Given the description of an element on the screen output the (x, y) to click on. 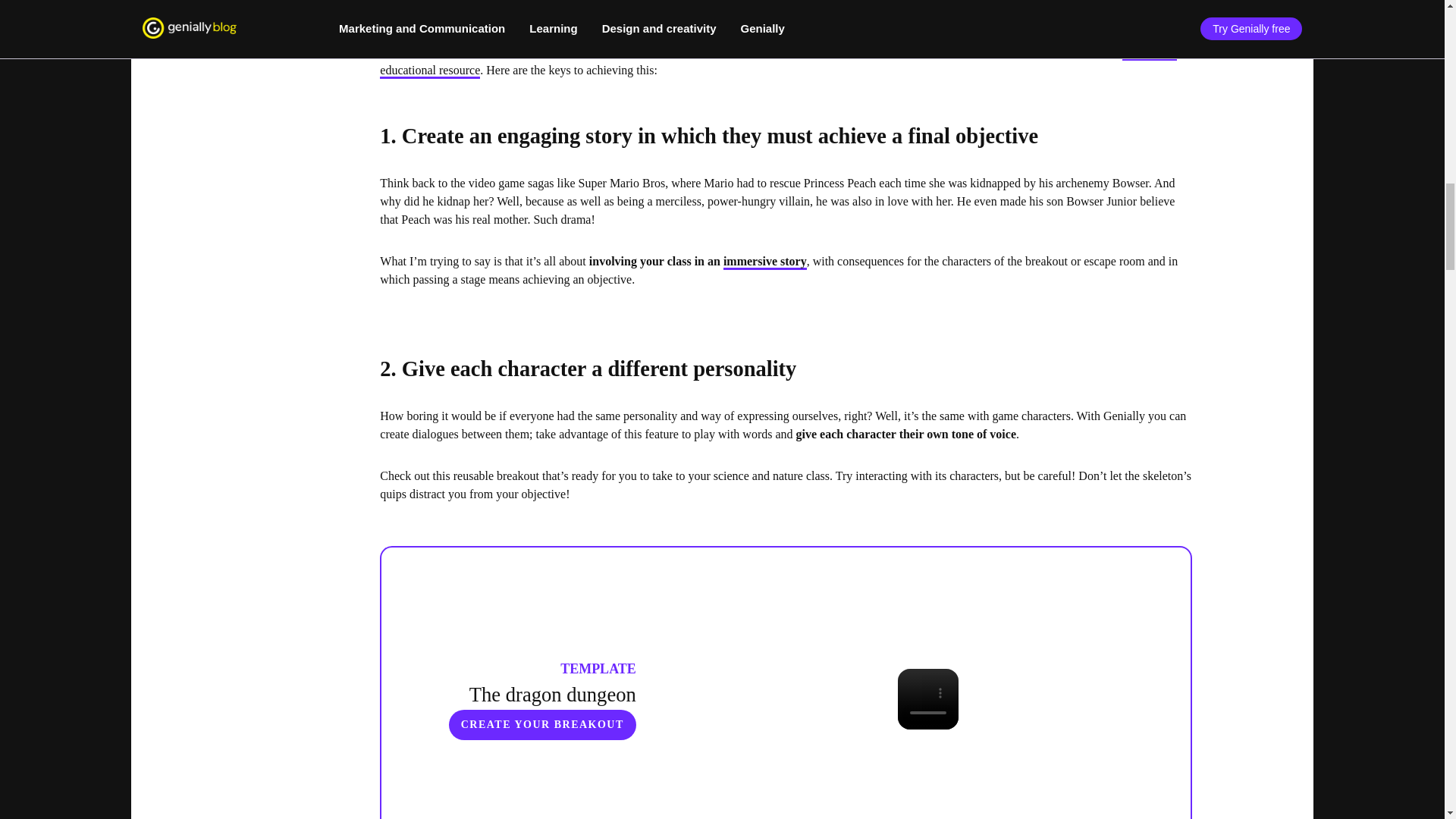
The dragon dungeon (552, 694)
memorable educational resource (778, 61)
immersive story (764, 262)
